Given the description of an element on the screen output the (x, y) to click on. 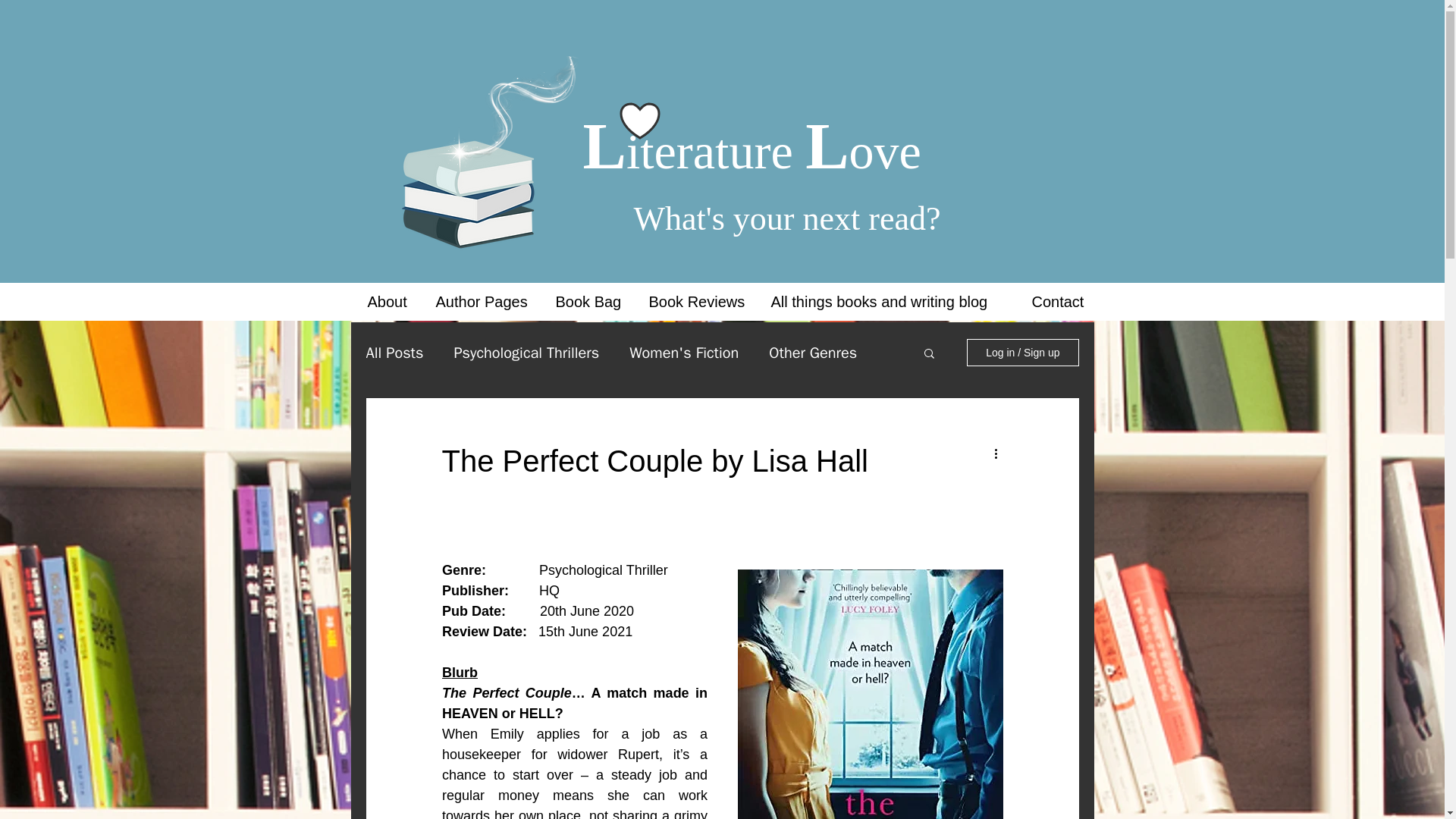
Other Genres (812, 353)
Psychological Thrillers (525, 353)
About (390, 301)
Book Reviews (697, 301)
Women's Fiction (683, 353)
All things books and writing blog (890, 301)
Contact (1060, 301)
Book Bag (590, 301)
Author Pages (484, 301)
All Posts (394, 353)
